Given the description of an element on the screen output the (x, y) to click on. 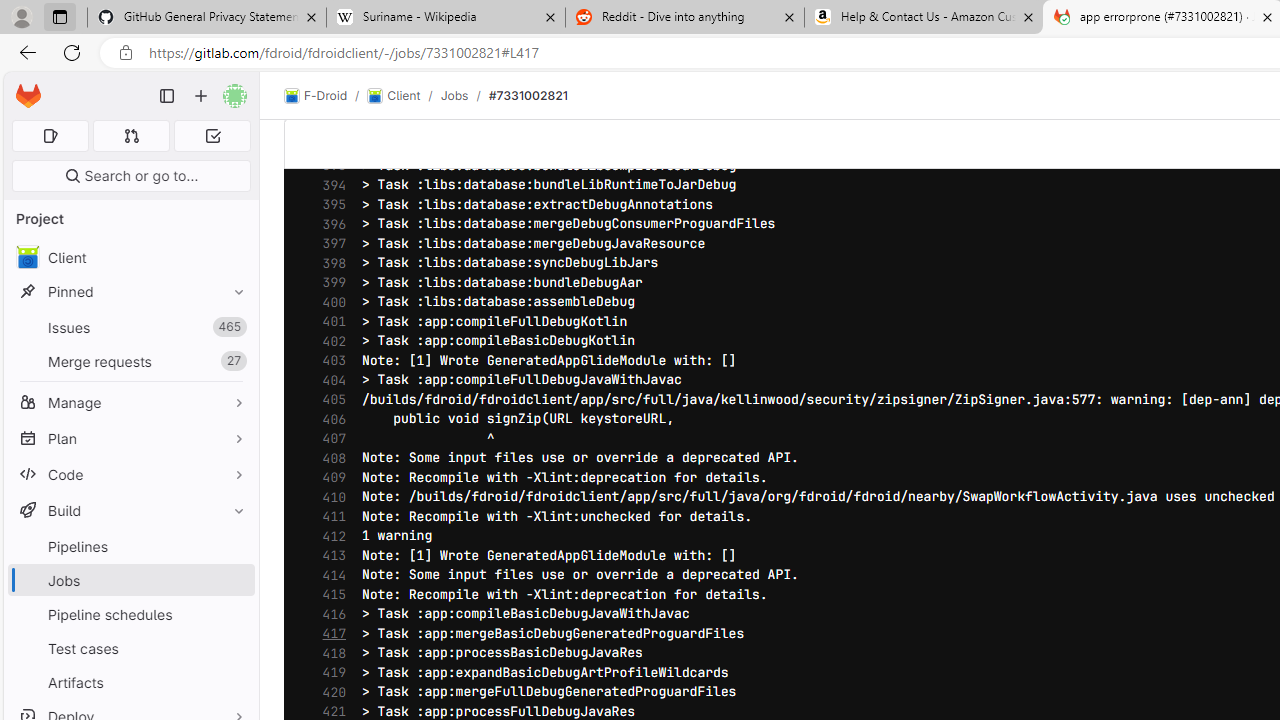
Pin Artifacts (234, 682)
416 (329, 614)
Unpin Merge requests (234, 361)
Jobs (454, 95)
Build (130, 510)
Pin Test cases (234, 647)
411 (329, 516)
404 (329, 380)
Merge requests 0 (131, 136)
Client (130, 257)
420 (329, 691)
GitHub General Privacy Statement - GitHub Docs (207, 17)
409 (329, 478)
